Given the description of an element on the screen output the (x, y) to click on. 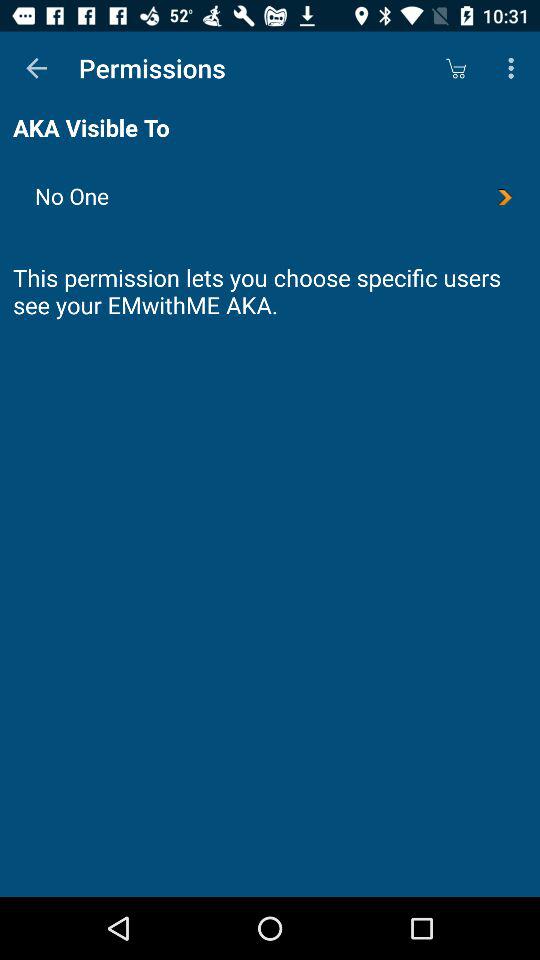
open the item above aka visible to item (36, 68)
